Given the description of an element on the screen output the (x, y) to click on. 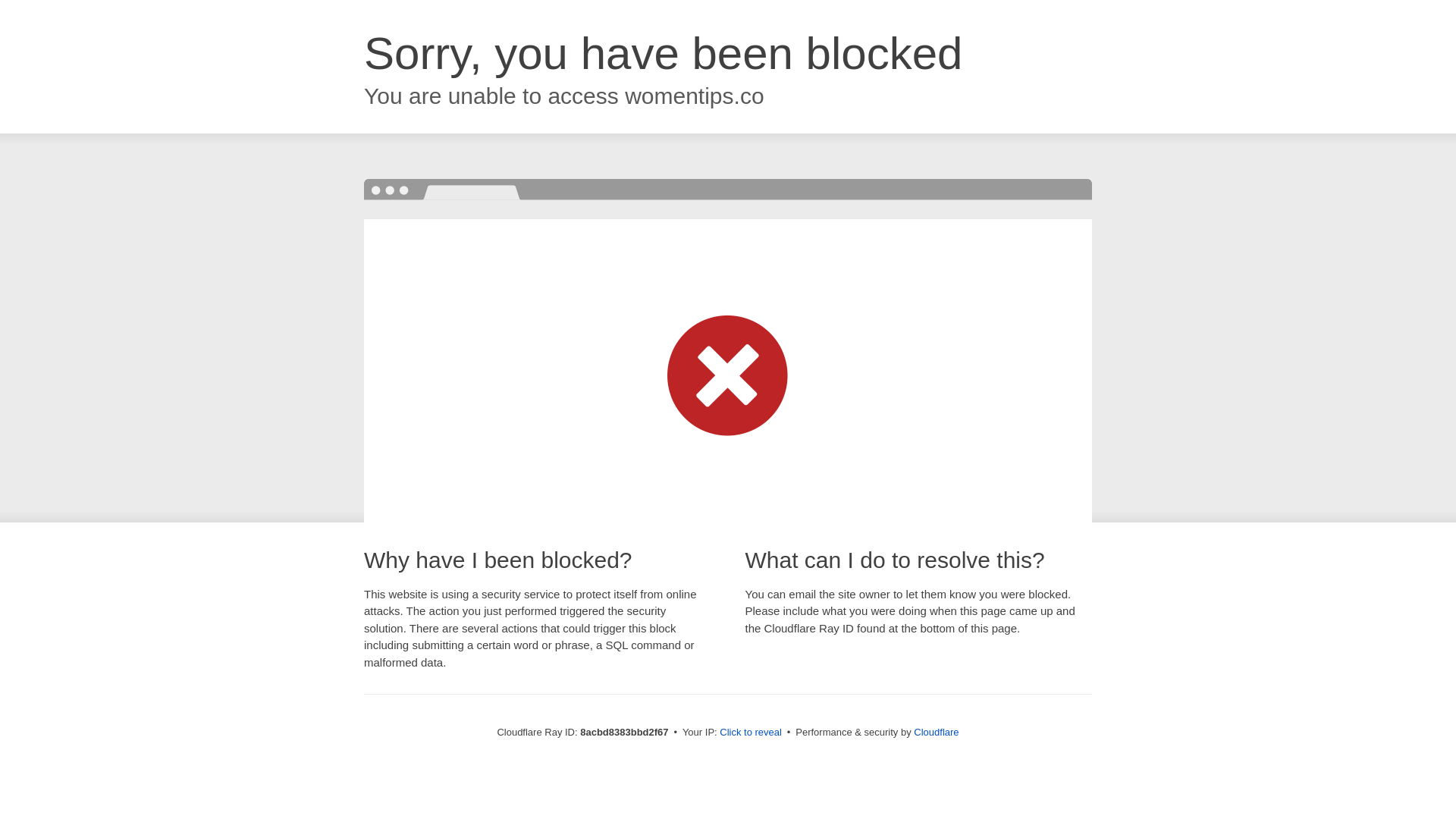
Cloudflare (936, 731)
Click to reveal (750, 732)
